Given the description of an element on the screen output the (x, y) to click on. 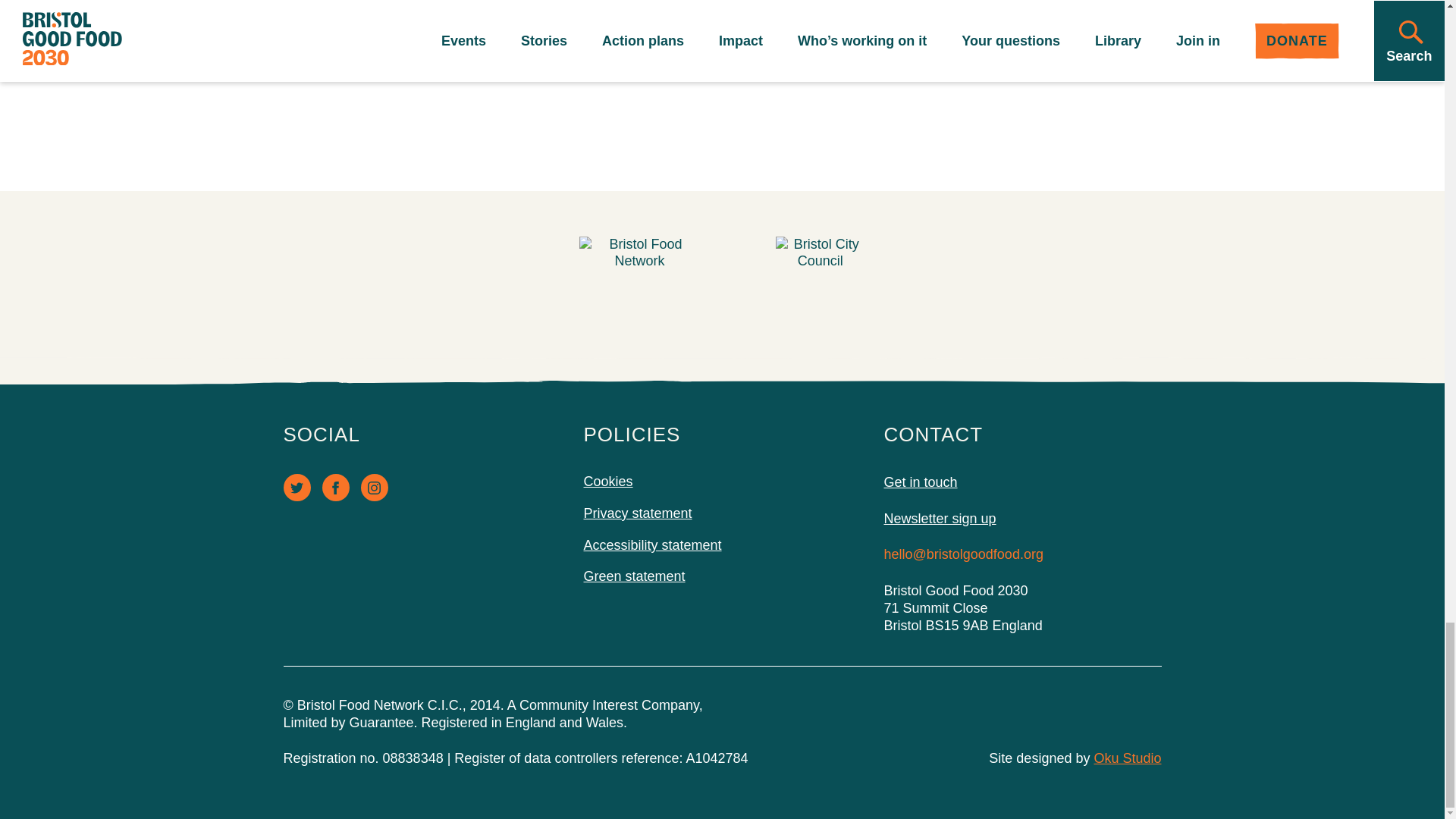
Facebook - Opens in new window. (335, 487)
Instagram - Opens in new window. (1009, 44)
Accessibility statement (374, 487)
Green statement (652, 544)
Get in touch (634, 575)
